Given the description of an element on the screen output the (x, y) to click on. 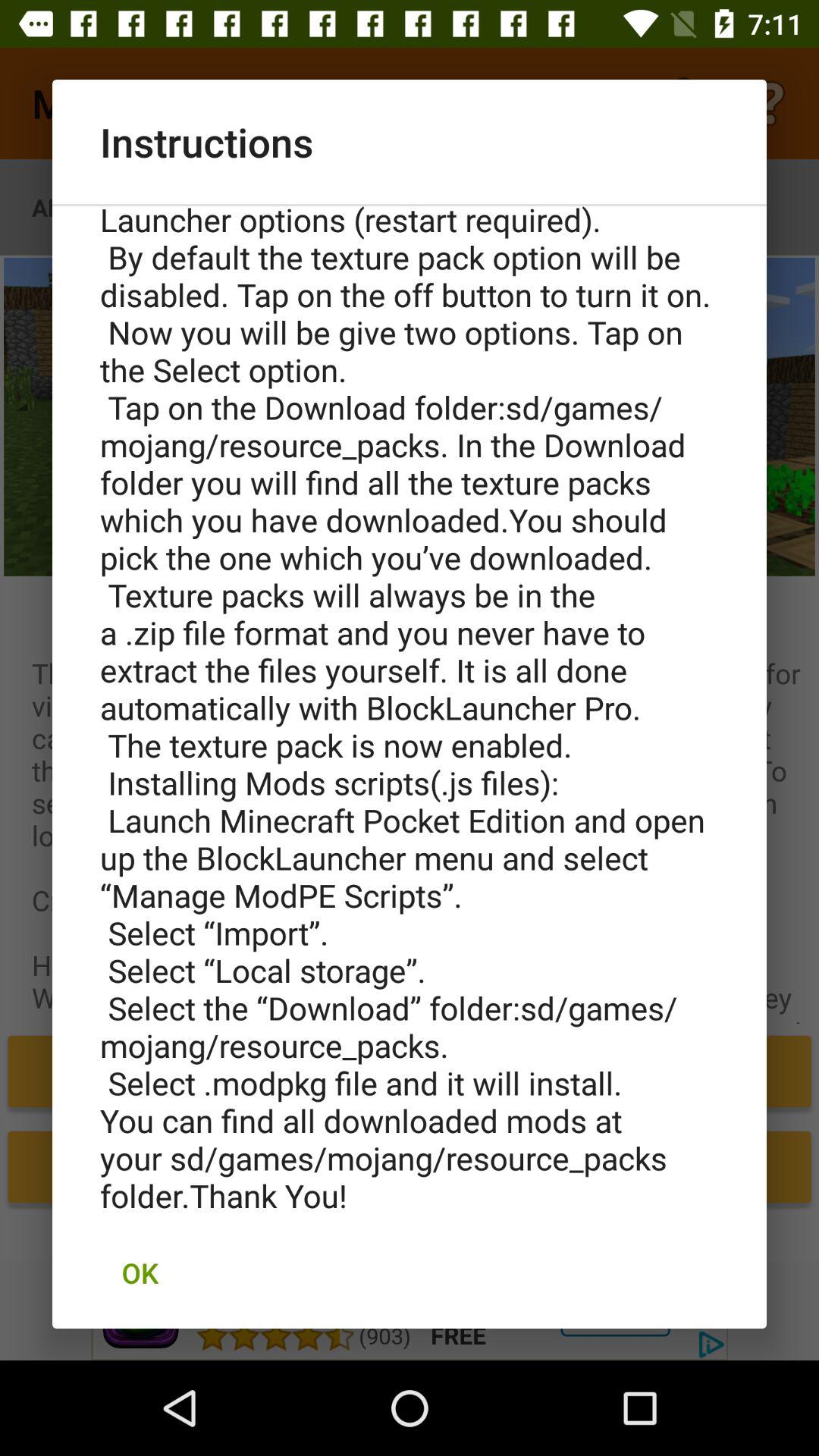
jump to the ok (139, 1272)
